Given the description of an element on the screen output the (x, y) to click on. 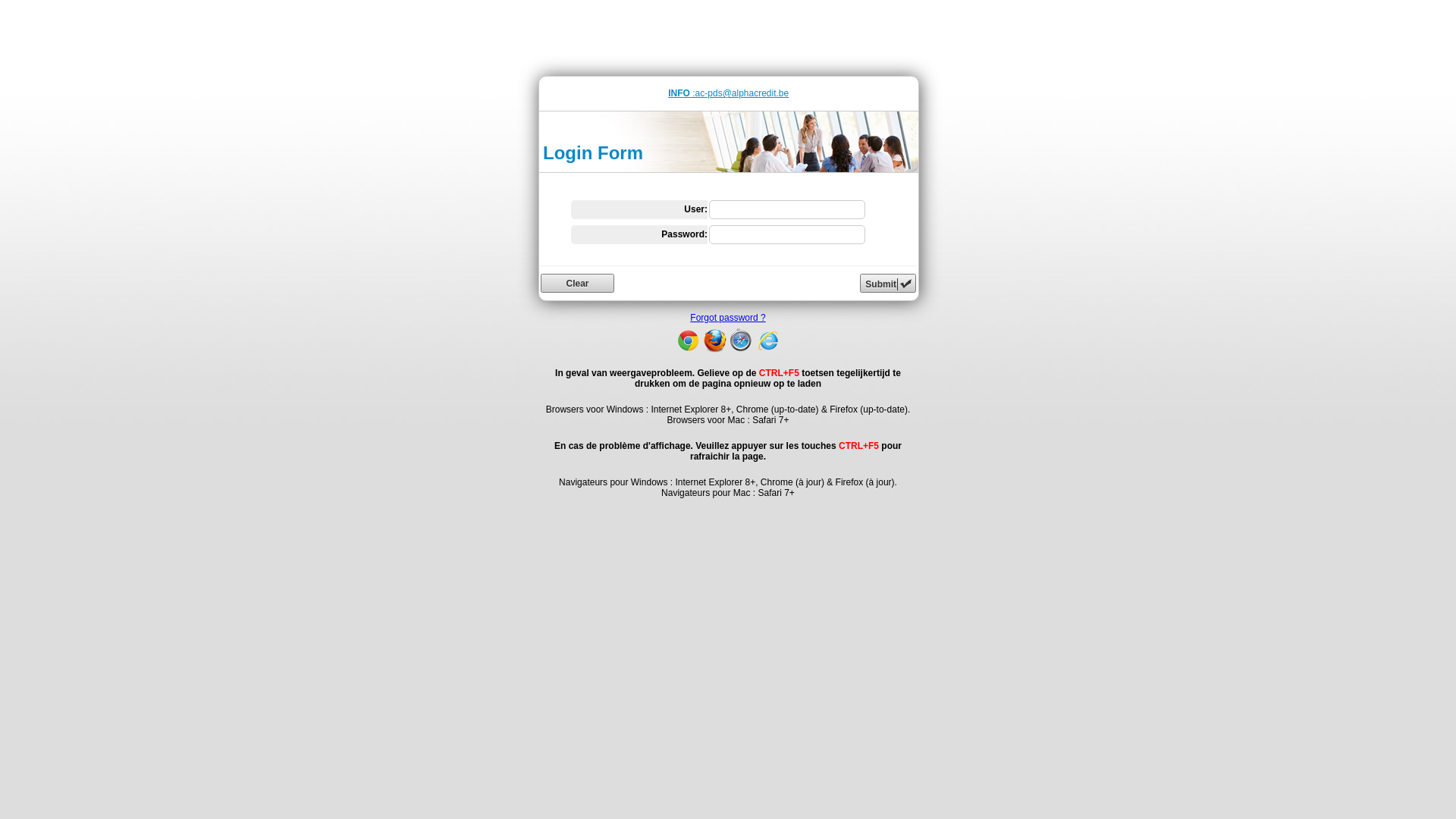
Forgot password ? Element type: text (727, 317)
INFO :ac-pds@alphacredit.be Element type: text (728, 92)
Submit Element type: text (887, 282)
